Given the description of an element on the screen output the (x, y) to click on. 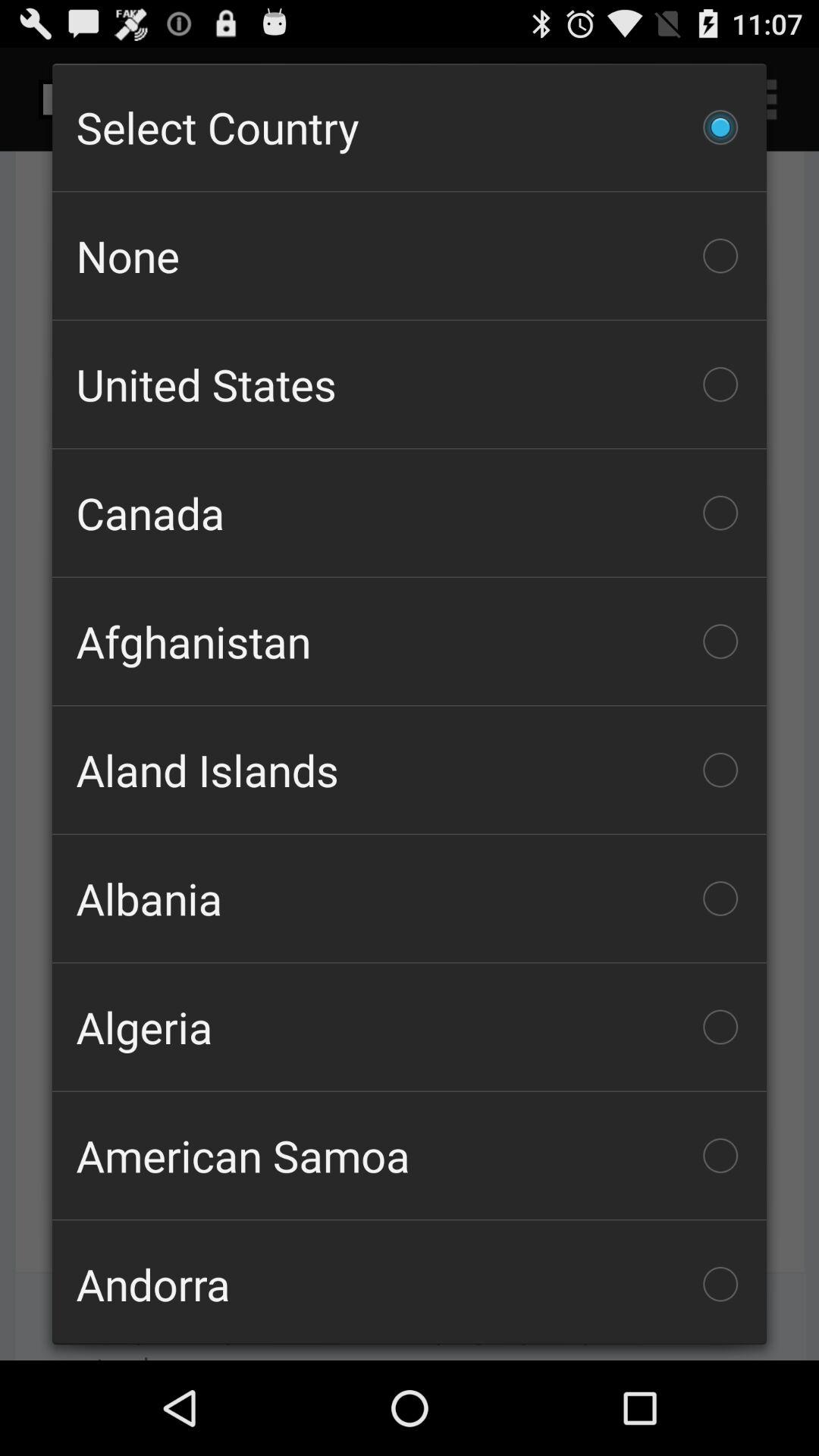
launch canada item (409, 512)
